Given the description of an element on the screen output the (x, y) to click on. 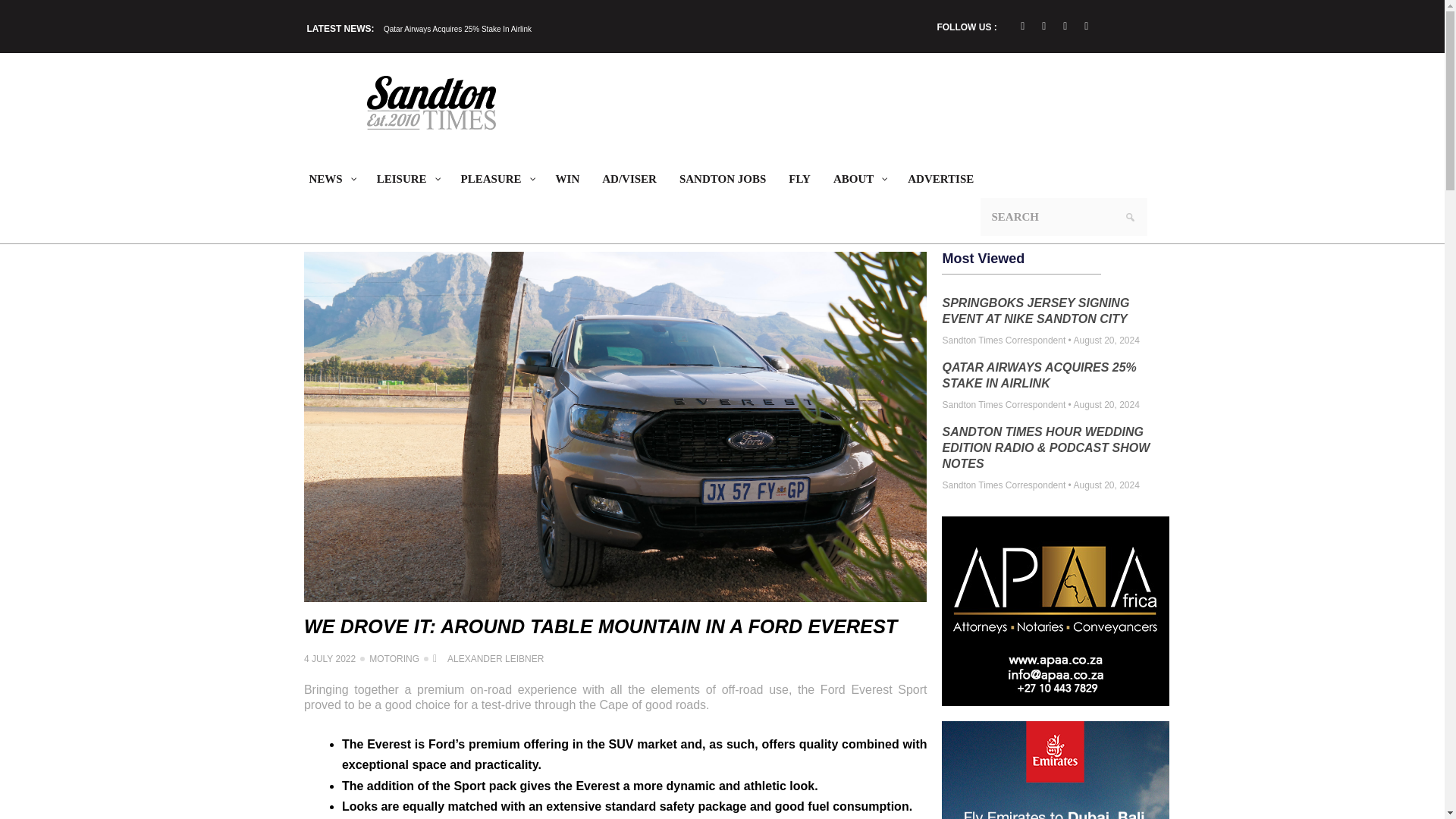
NEWS (331, 178)
LEISURE (407, 178)
WIN (567, 178)
SANDTON JOBS (722, 178)
PLEASURE (496, 178)
